Given the description of an element on the screen output the (x, y) to click on. 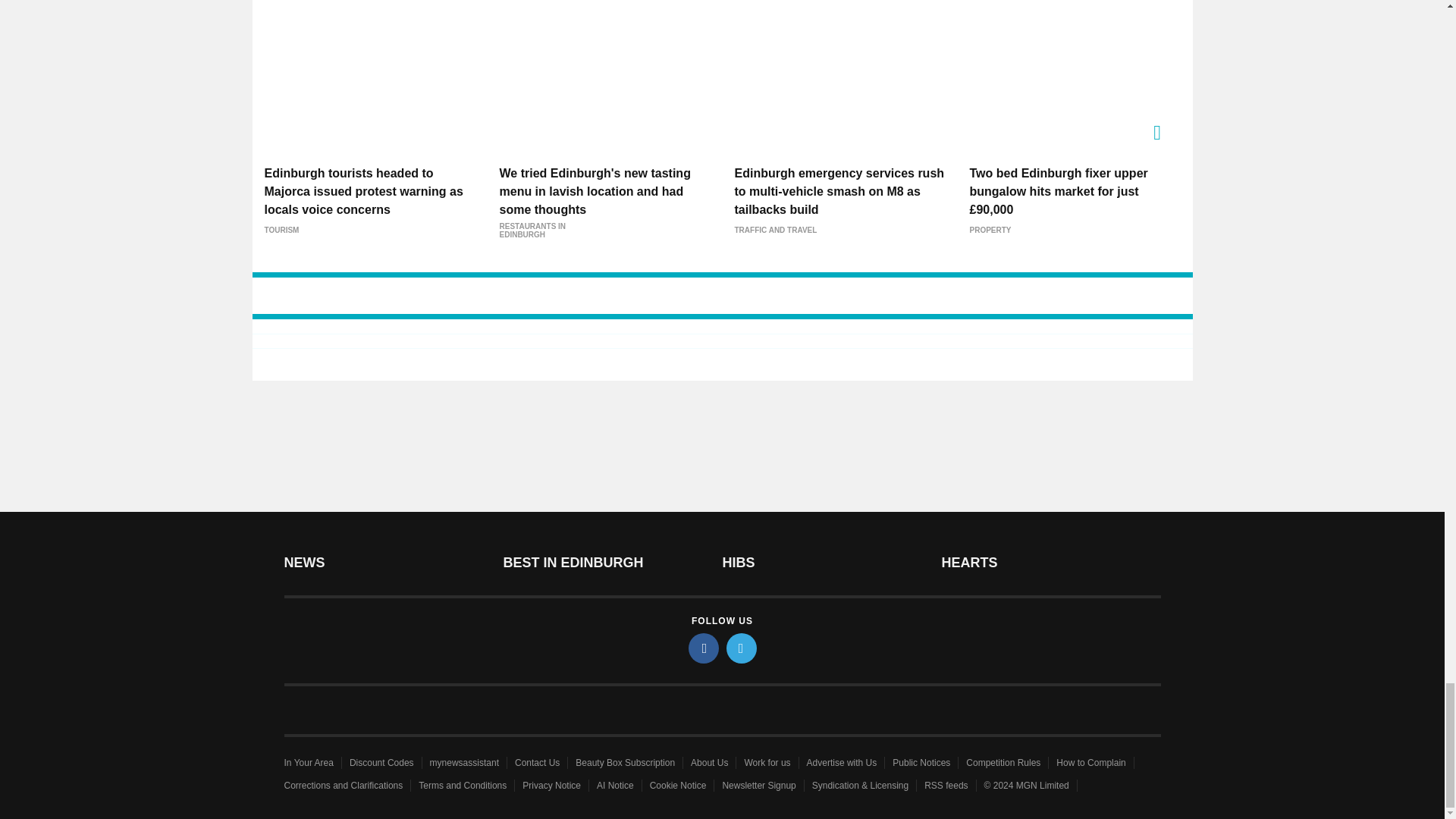
twitter (741, 648)
facebook (703, 648)
